Given the description of an element on the screen output the (x, y) to click on. 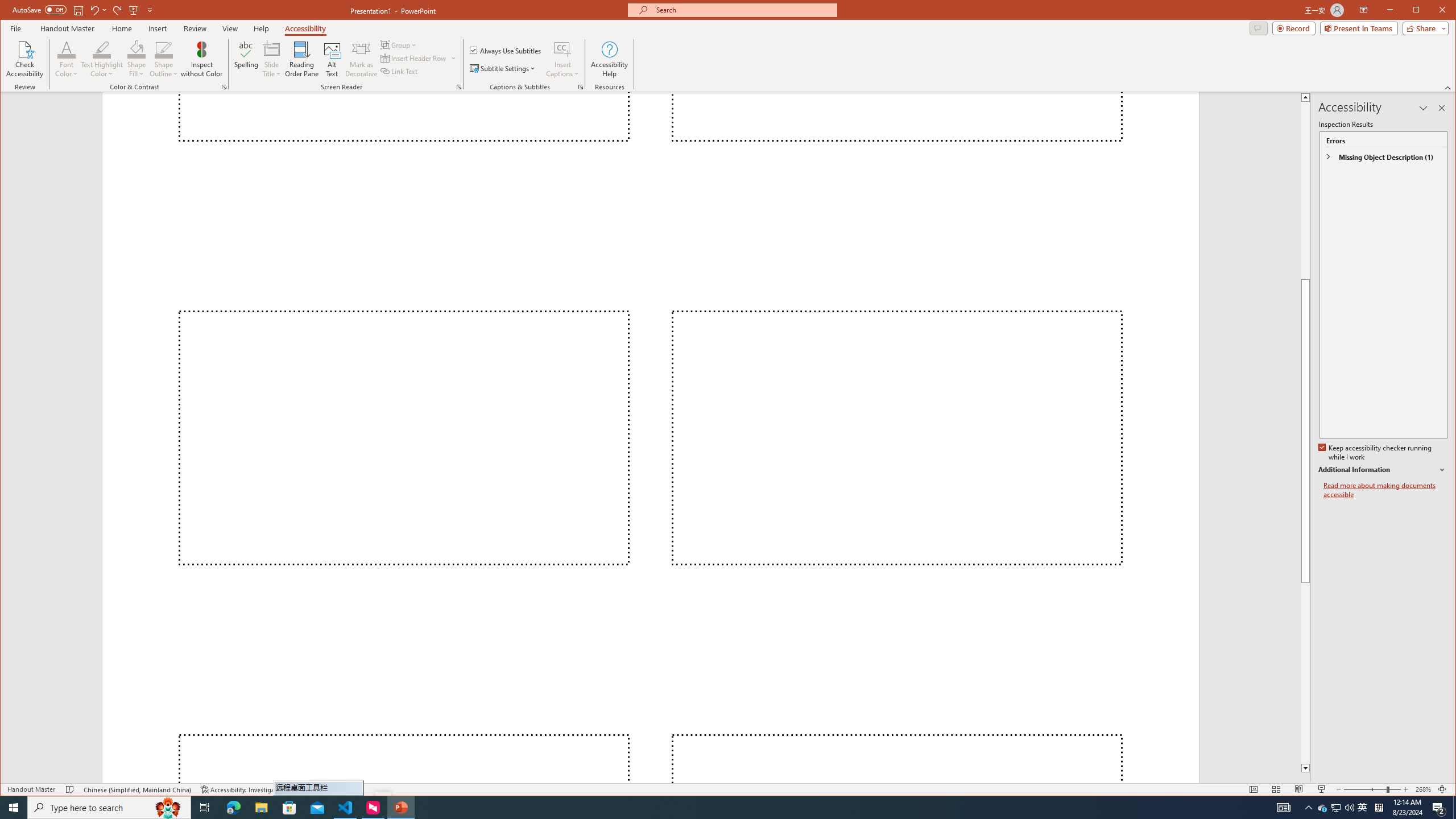
Accessibility Help (608, 59)
Additional Information (1382, 469)
Spelling... (246, 59)
Page down (1305, 584)
Read more about making documents accessible (1385, 489)
PowerPoint - 1 running window (400, 807)
Always Use Subtitles (505, 49)
User Promoted Notification Area (1336, 807)
Start (13, 807)
Task View (204, 807)
